Given the description of an element on the screen output the (x, y) to click on. 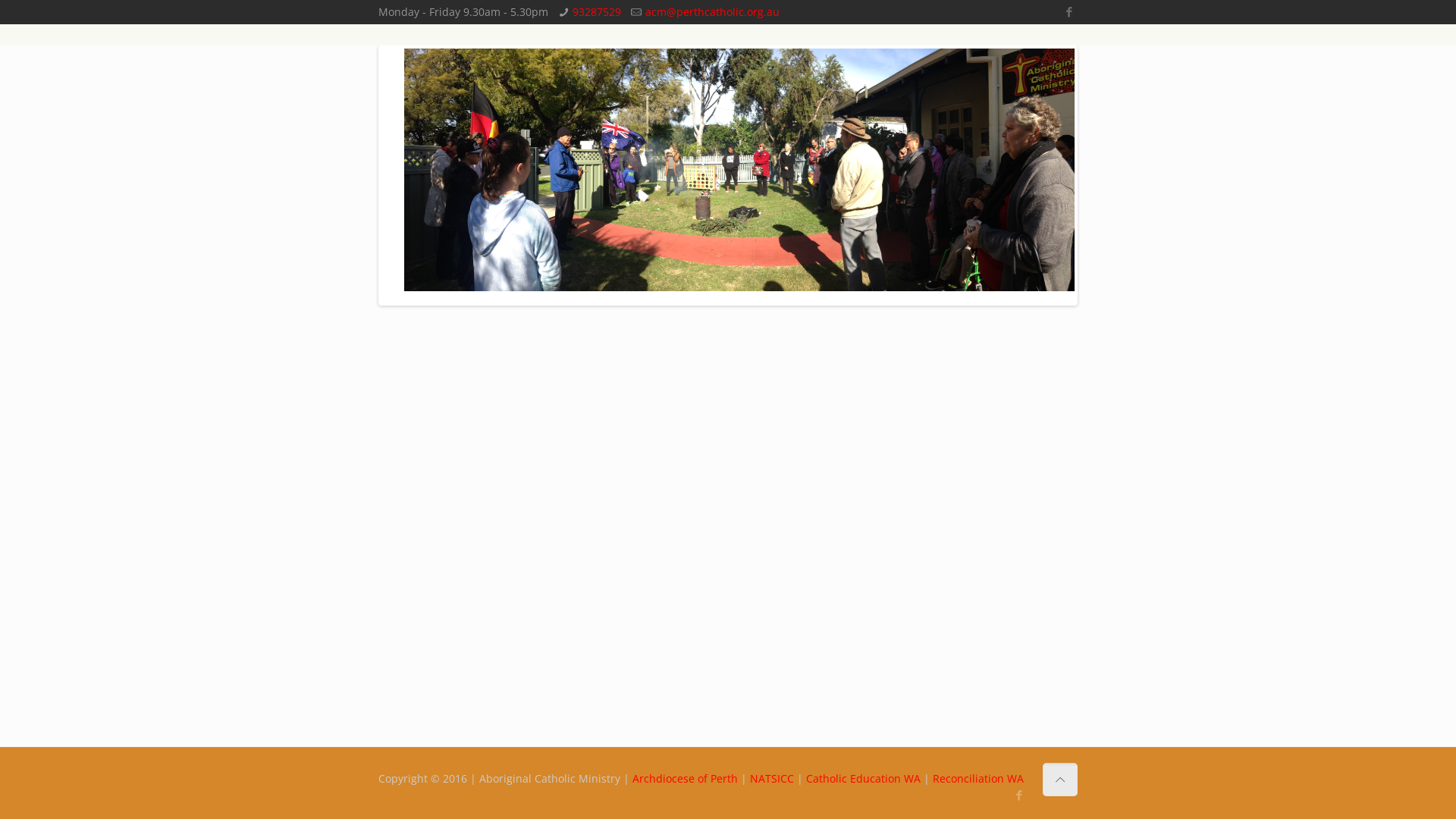
Facebook Element type: hover (1069, 10)
93287529 Element type: text (596, 11)
Reconciliation WA Element type: text (977, 778)
acm@perthcatholic.org.au Element type: text (712, 11)
Archdiocese of Perth Element type: text (686, 778)
Catholic Education WA Element type: text (864, 778)
NATSICC Element type: text (773, 778)
Facebook Element type: hover (1019, 794)
